Given the description of an element on the screen output the (x, y) to click on. 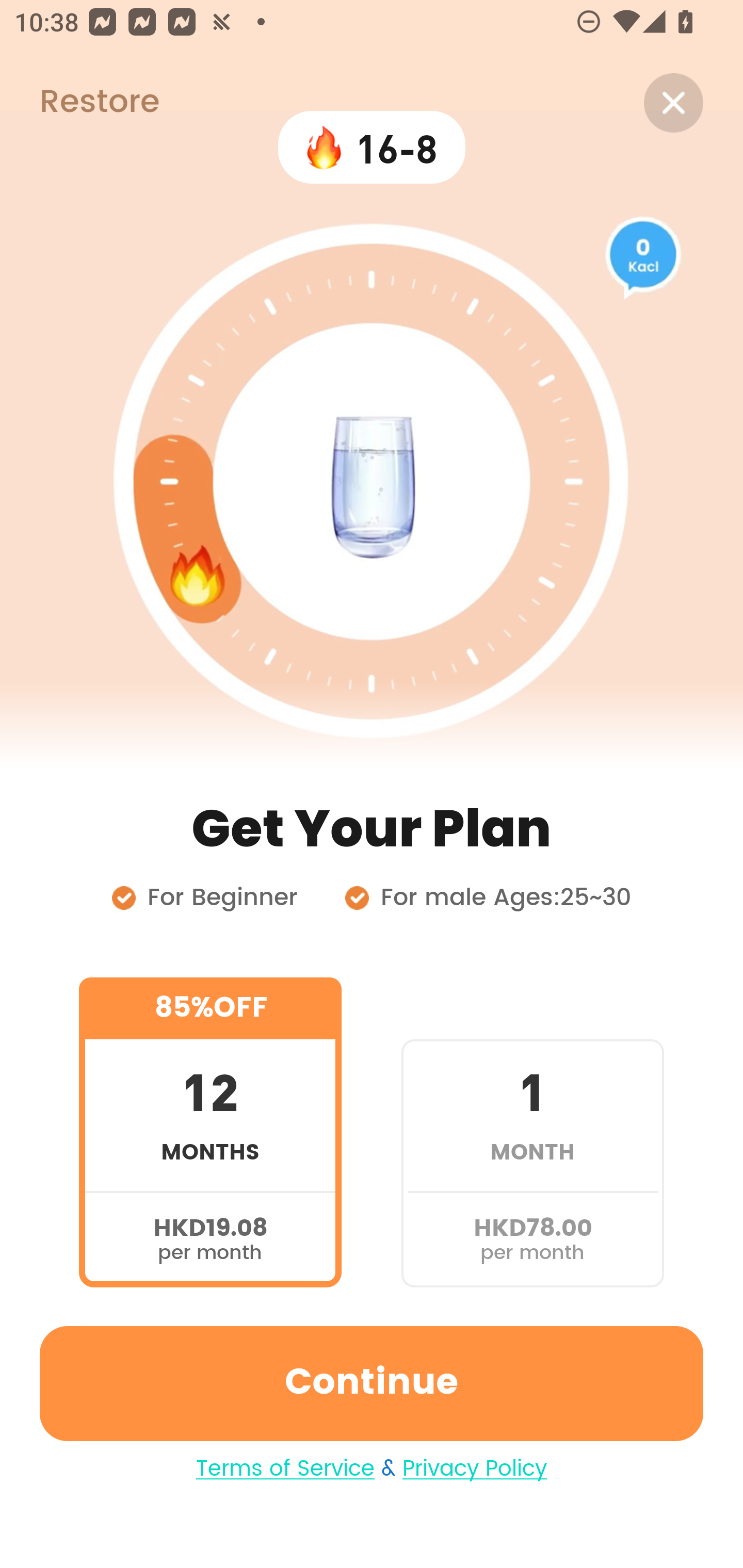
Restore (79, 102)
85%OFF 12 MONTHS per month HKD19.08 (209, 1131)
1 MONTH per month HKD78.00 (532, 1131)
Continue (371, 1383)
